Given the description of an element on the screen output the (x, y) to click on. 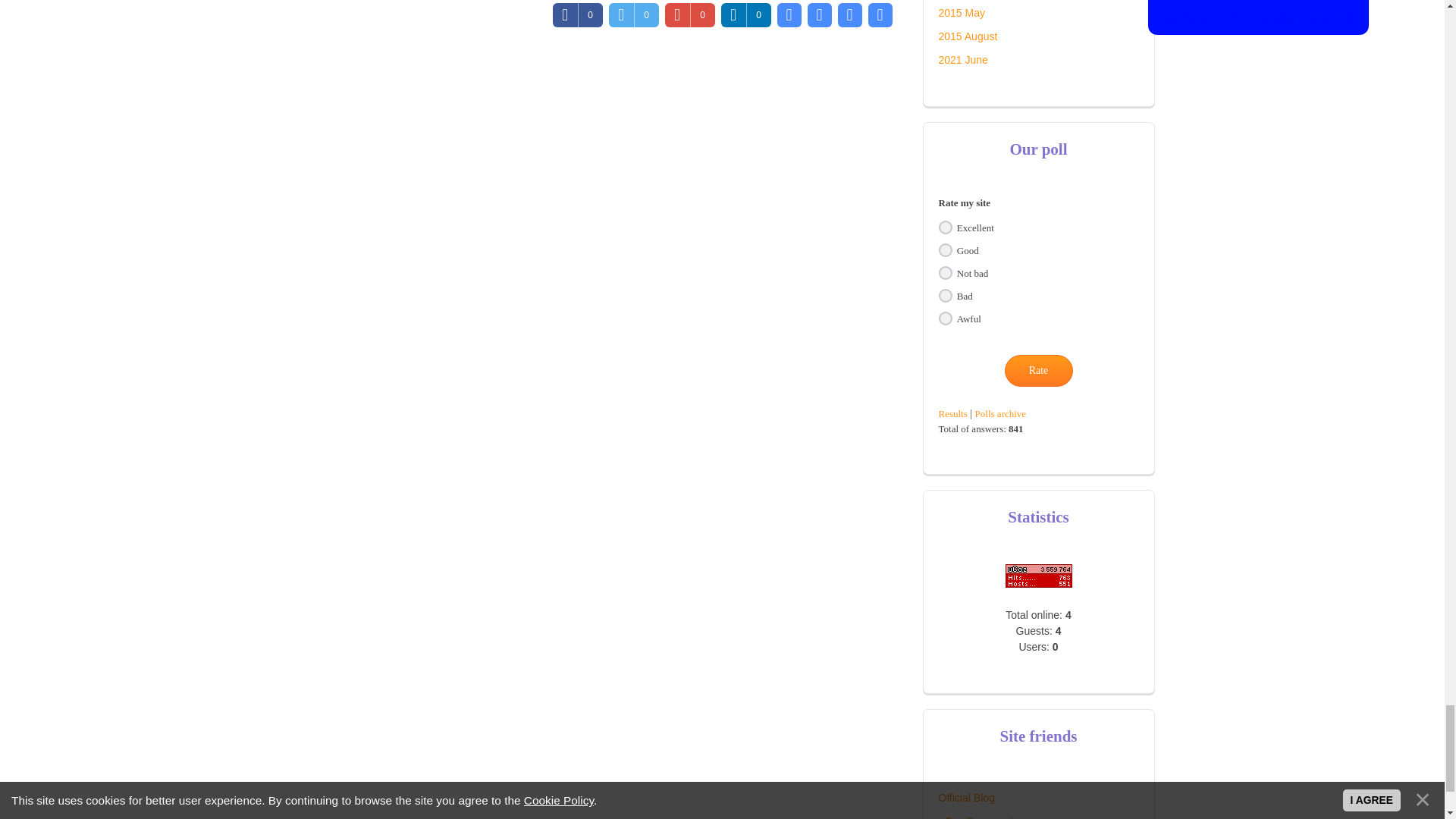
1 (945, 227)
4 (945, 295)
Rate (1037, 370)
3 (945, 273)
2 (945, 250)
5 (945, 318)
